Given the description of an element on the screen output the (x, y) to click on. 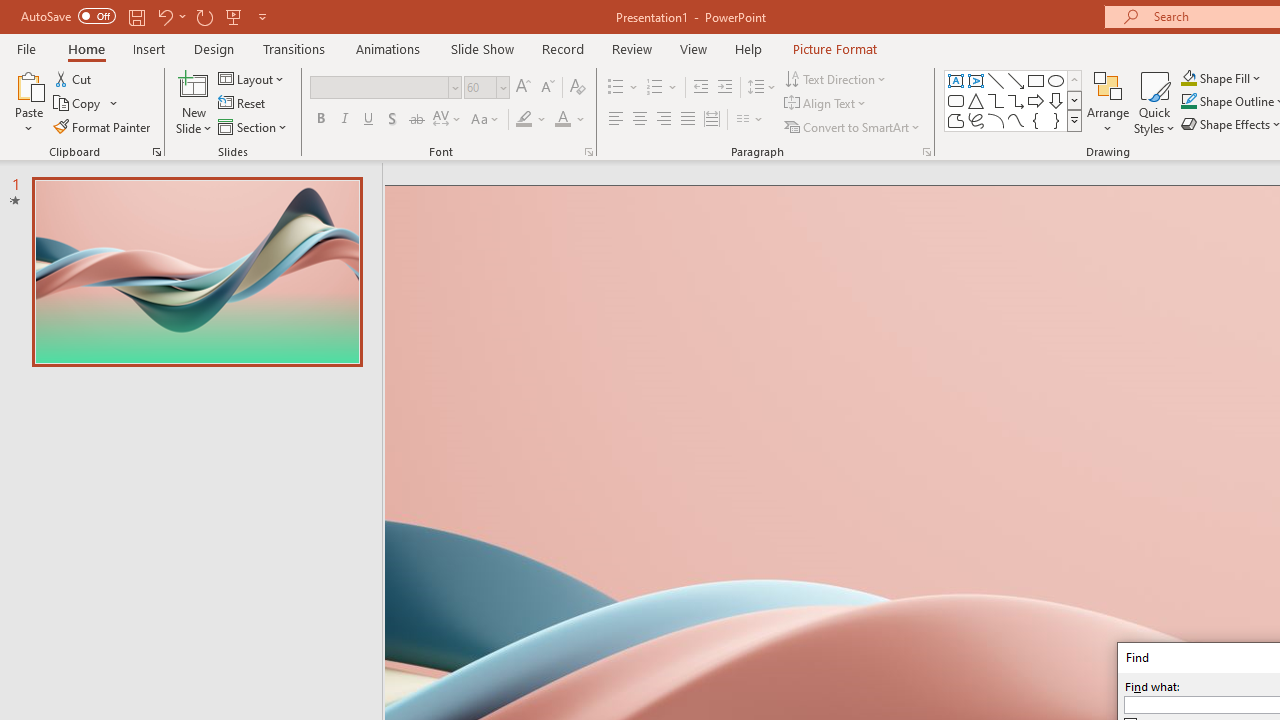
Picture Format (834, 48)
